Given the description of an element on the screen output the (x, y) to click on. 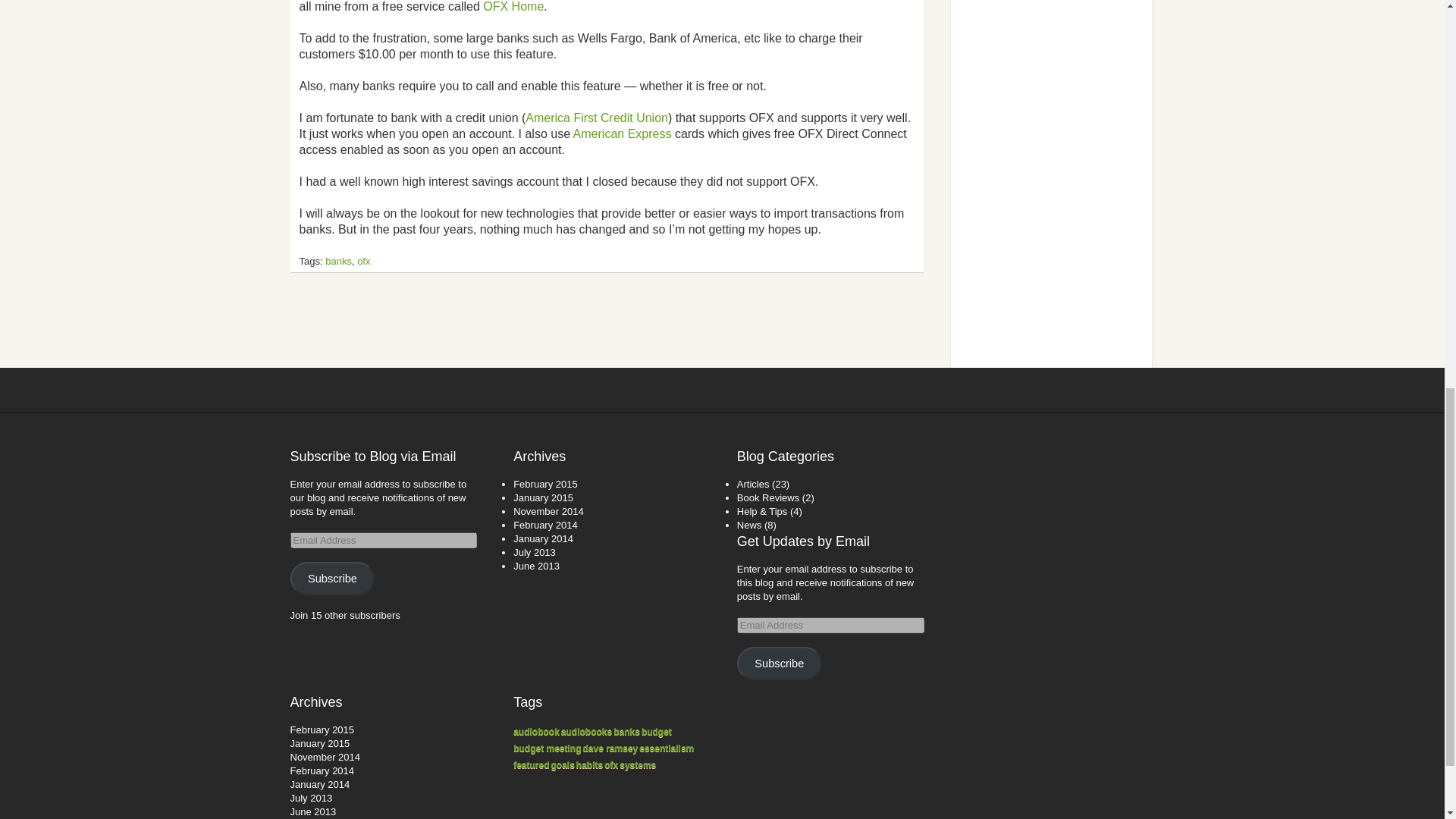
banks (338, 260)
America First Credit Union (596, 117)
Back to top (1114, 391)
OFX Home (513, 6)
Facebook (738, 390)
Twitter (705, 390)
American Express (622, 133)
ofx (362, 260)
